Given the description of an element on the screen output the (x, y) to click on. 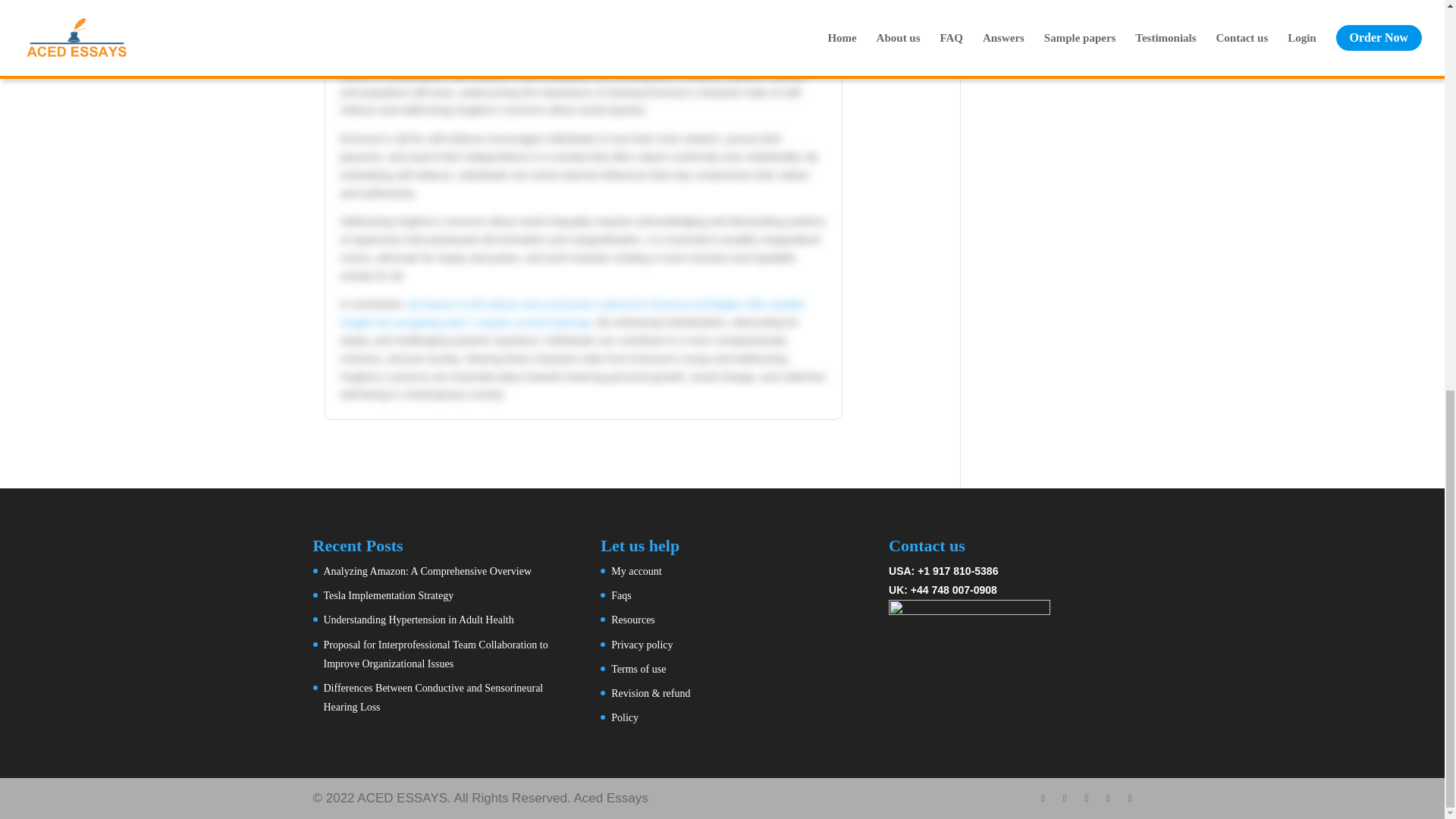
Resources (633, 619)
Analyzing Amazon: A Comprehensive Overview (427, 571)
Tesla Implementation Strategy (387, 595)
Faqs (620, 595)
Understanding Hypertension in Adult Health (418, 619)
My account (636, 571)
